Given the description of an element on the screen output the (x, y) to click on. 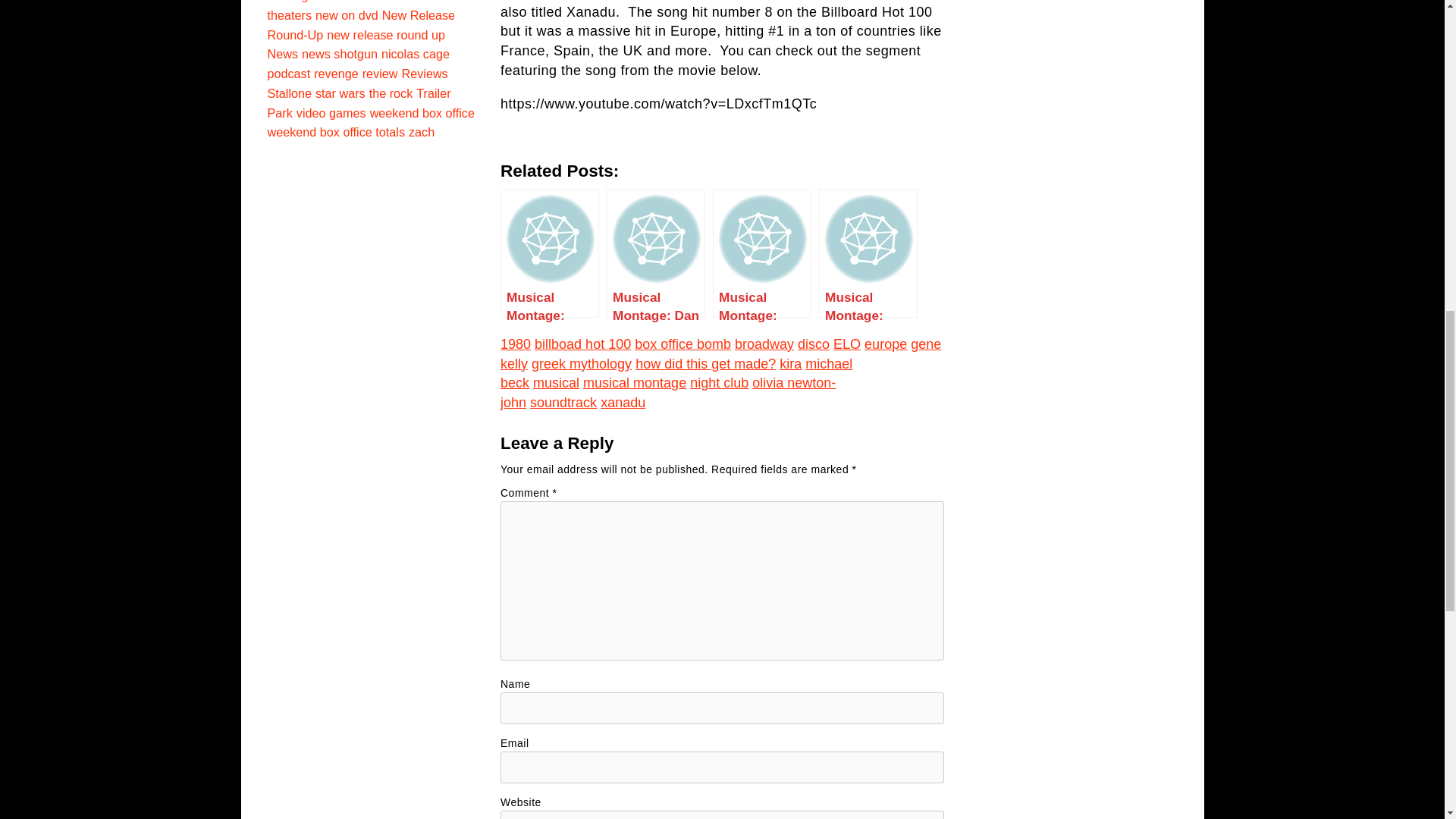
broadway (764, 344)
1980 (515, 344)
billboad hot 100 (582, 344)
box office bomb (682, 344)
